Given the description of an element on the screen output the (x, y) to click on. 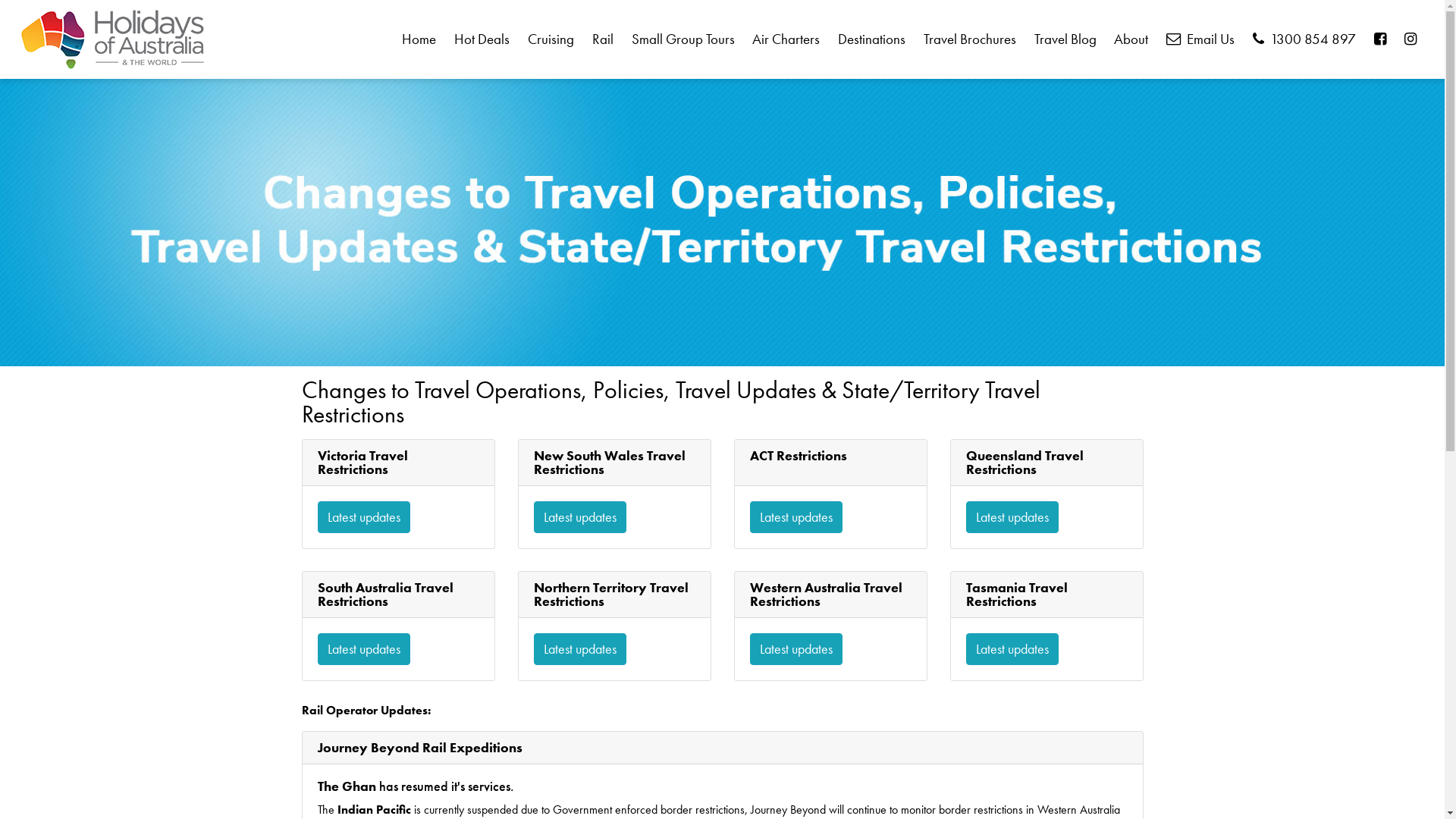
Latest updates Element type: text (795, 649)
Rail Element type: text (602, 39)
Cruising Element type: text (551, 39)
Latest updates Element type: text (362, 517)
Destinations Element type: text (871, 39)
Air Charters Element type: text (786, 39)
Hot Deals Element type: text (481, 39)
  1300 854 897 Element type: text (1304, 39)
Latest updates Element type: text (1012, 517)
About Element type: text (1131, 39)
Latest updates Element type: text (1012, 649)
Home Element type: text (419, 39)
Latest updates Element type: text (579, 649)
Travel Brochures Element type: text (970, 39)
Latest updates Element type: text (579, 517)
Small Group Tours Element type: text (682, 39)
Latest updates Element type: text (362, 649)
Travel Blog Element type: text (1065, 39)
  Email Us Element type: text (1200, 39)
Latest updates Element type: text (795, 517)
